Given the description of an element on the screen output the (x, y) to click on. 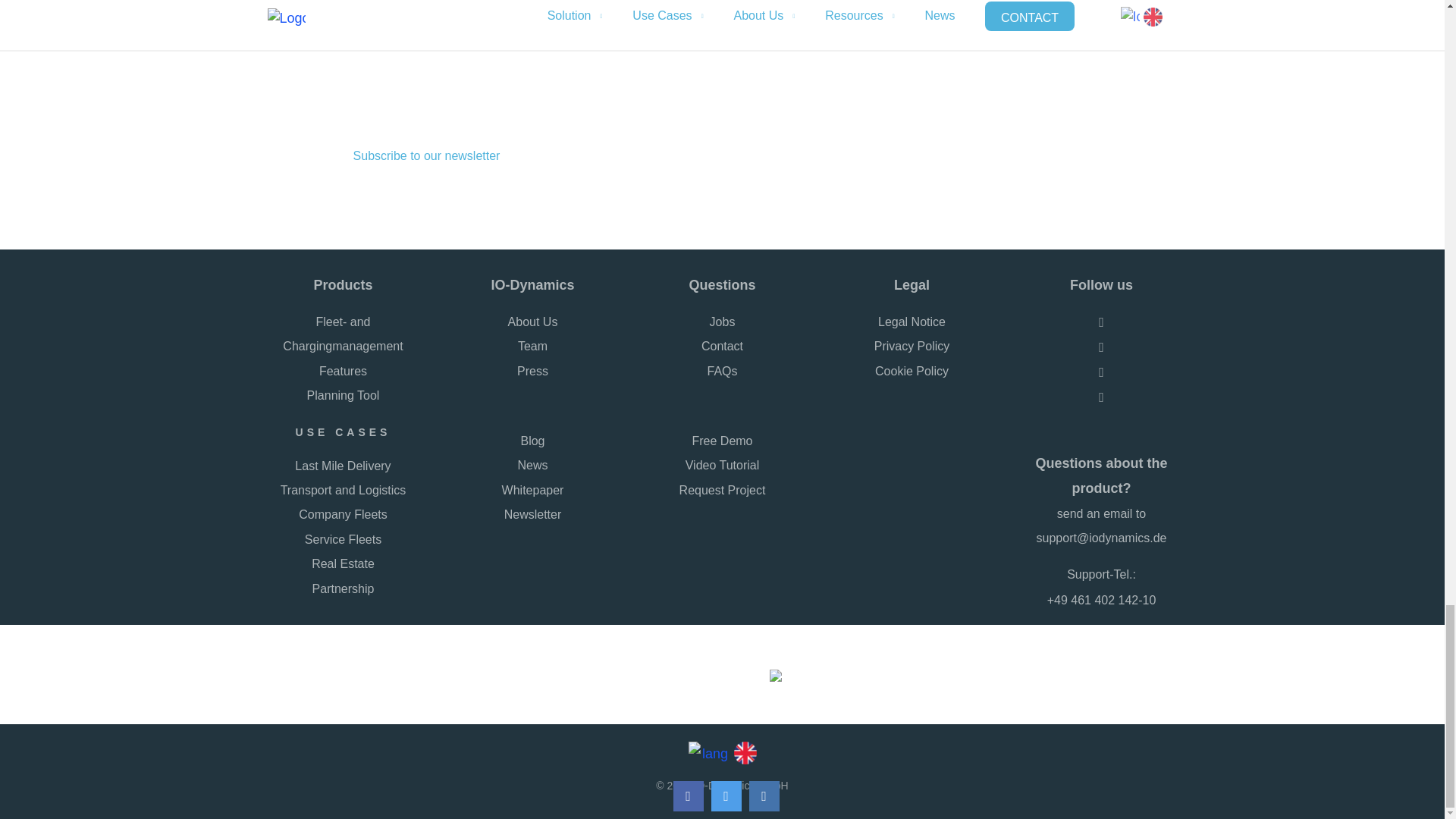
language german (709, 751)
language english (742, 751)
Fleet- and Chargingmanagement (342, 334)
Subscribe to our newsletter (426, 156)
Features (342, 371)
